Given the description of an element on the screen output the (x, y) to click on. 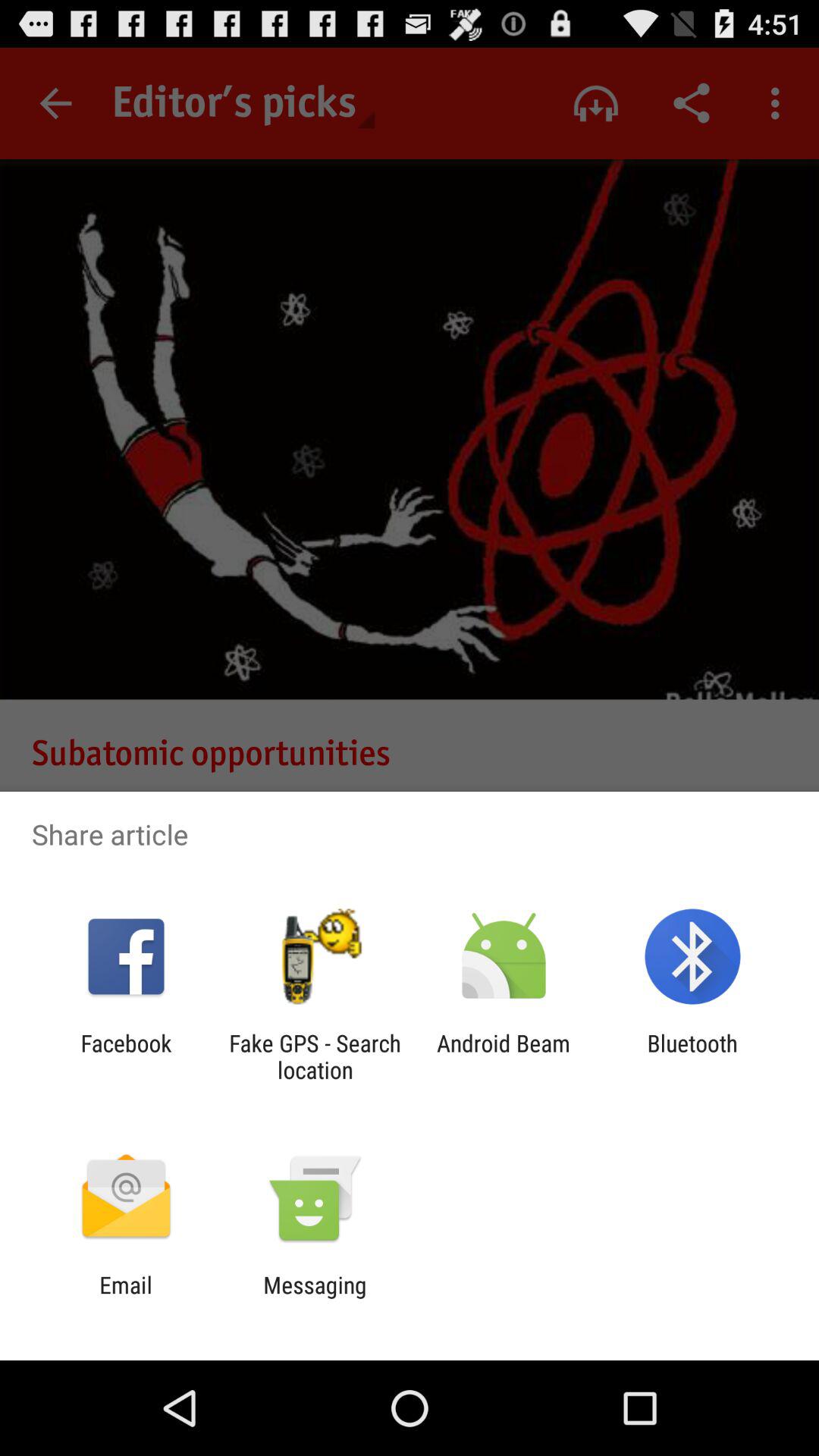
select the facebook icon (125, 1056)
